Given the description of an element on the screen output the (x, y) to click on. 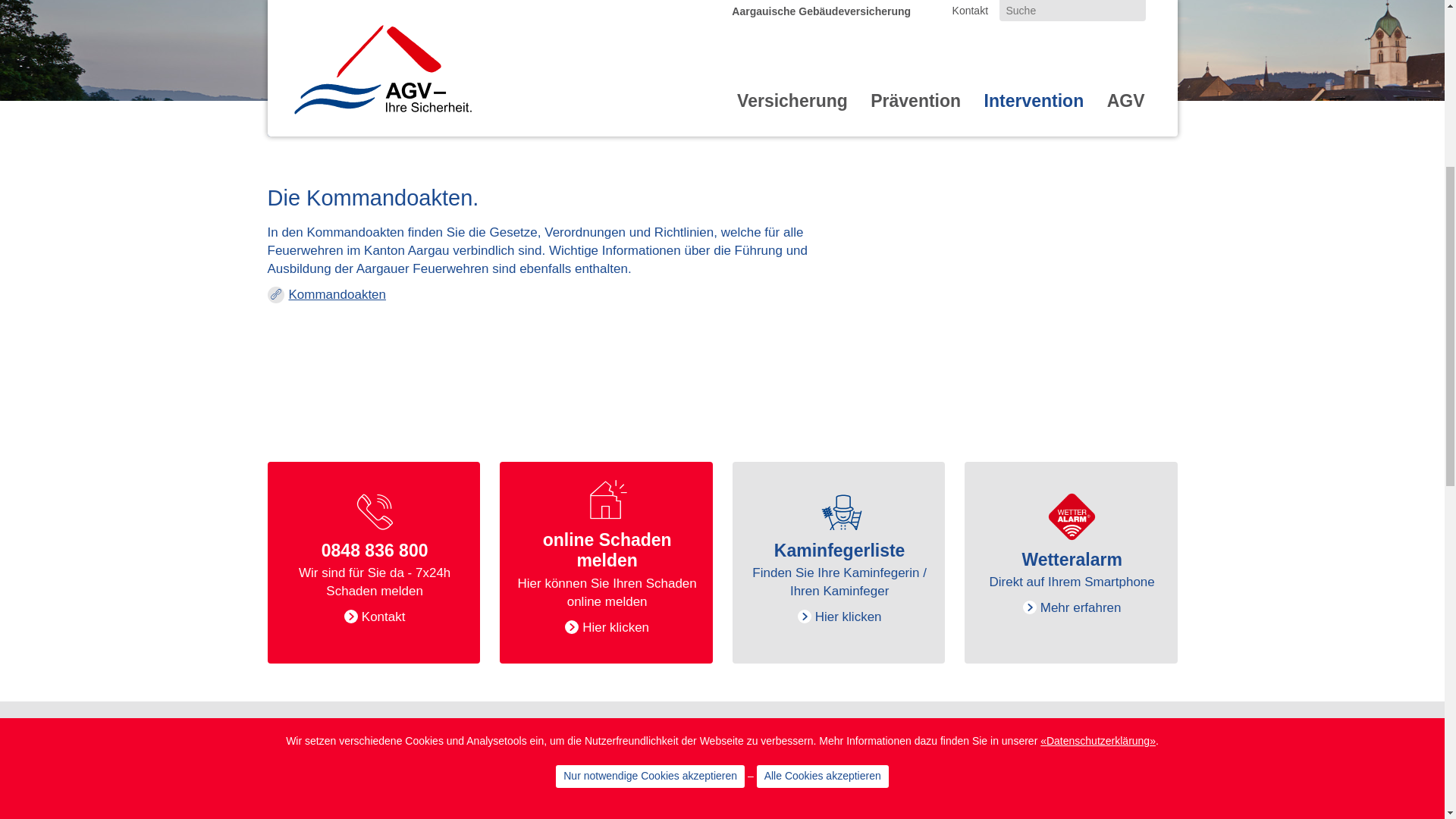
Home Element type: hover (380, 467)
Kontakt Element type: text (970, 410)
Kommandoakten Element type: text (325, 694)
Feuerwehr Element type: text (365, 358)
Intervention Element type: text (1034, 509)
Versicherung Element type: text (792, 509)
Planer/-in Element type: text (360, 444)
AGV Element type: text (1125, 509)
